Given the description of an element on the screen output the (x, y) to click on. 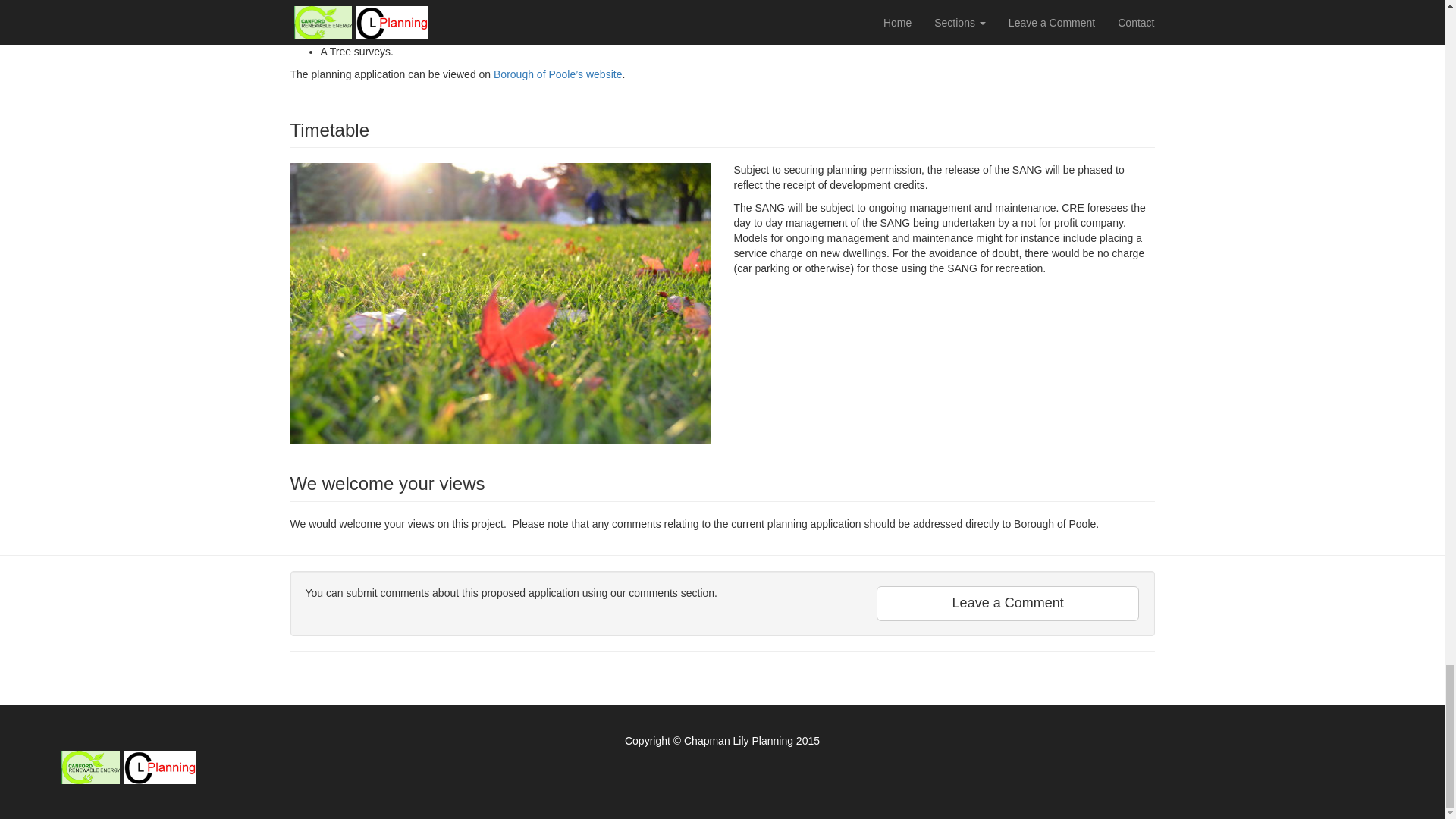
Leave a Comment (1008, 603)
